Given the description of an element on the screen output the (x, y) to click on. 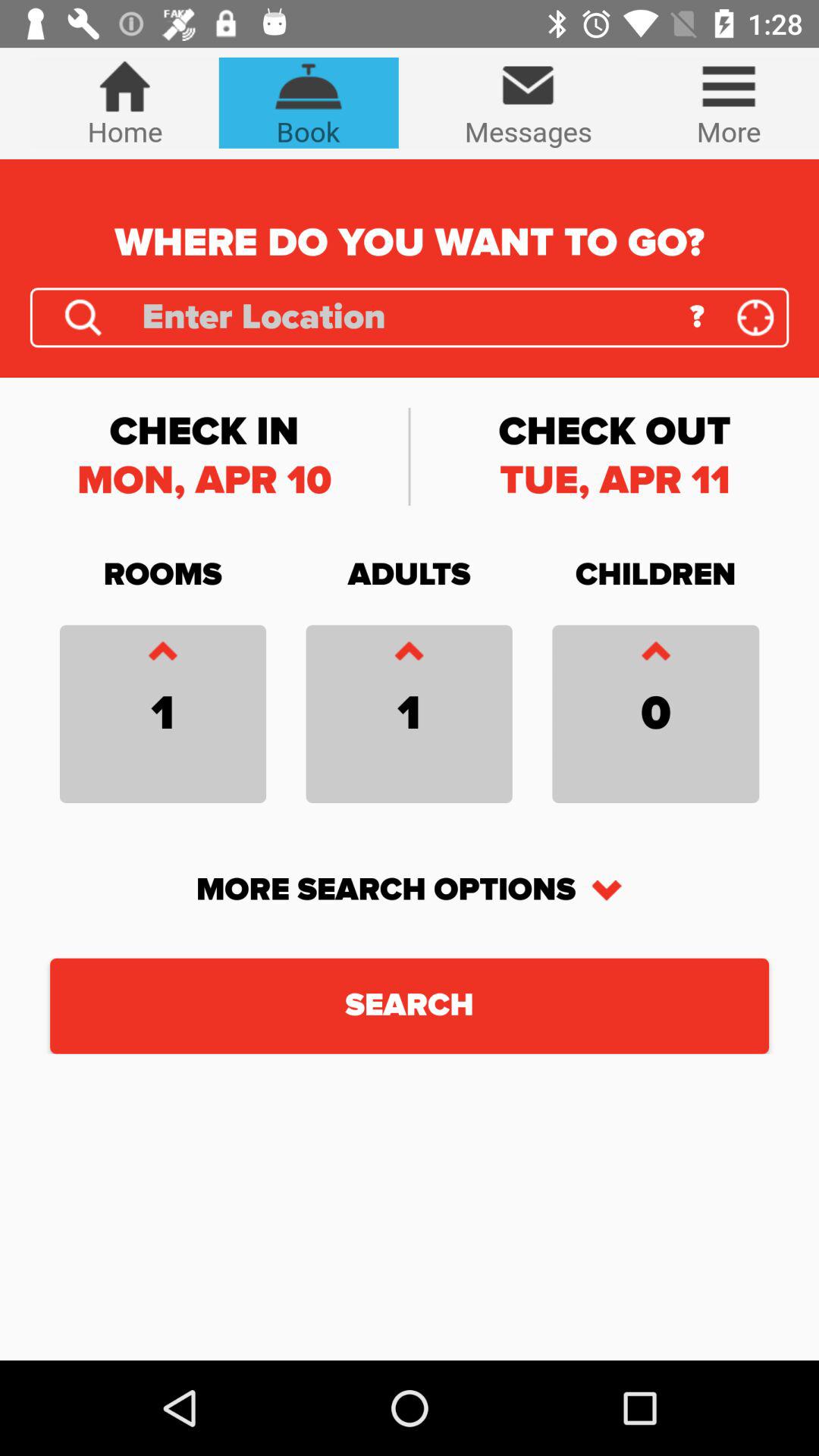
increase (162, 654)
